Given the description of an element on the screen output the (x, y) to click on. 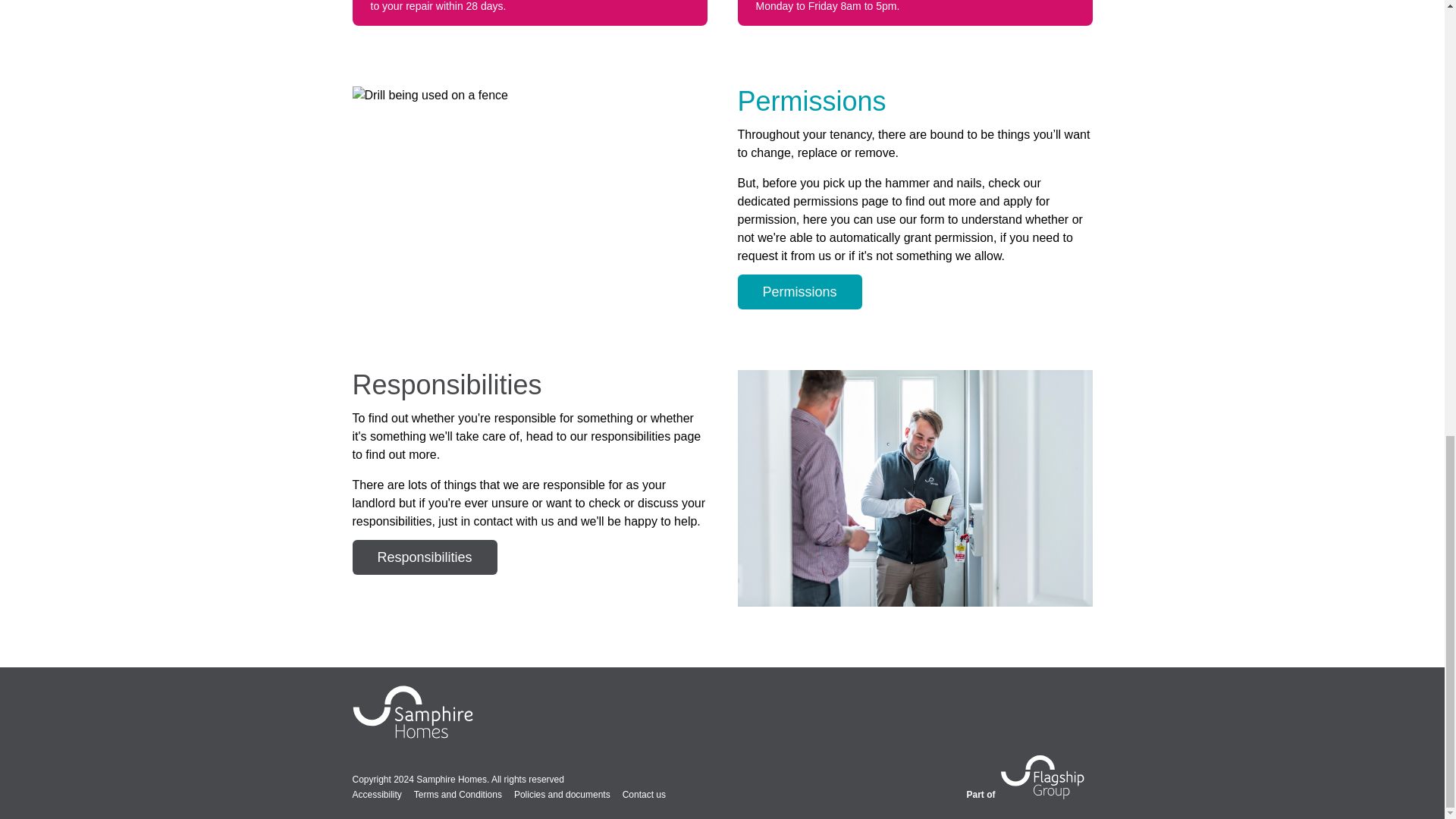
link to Flagship group site (1043, 776)
